Given the description of an element on the screen output the (x, y) to click on. 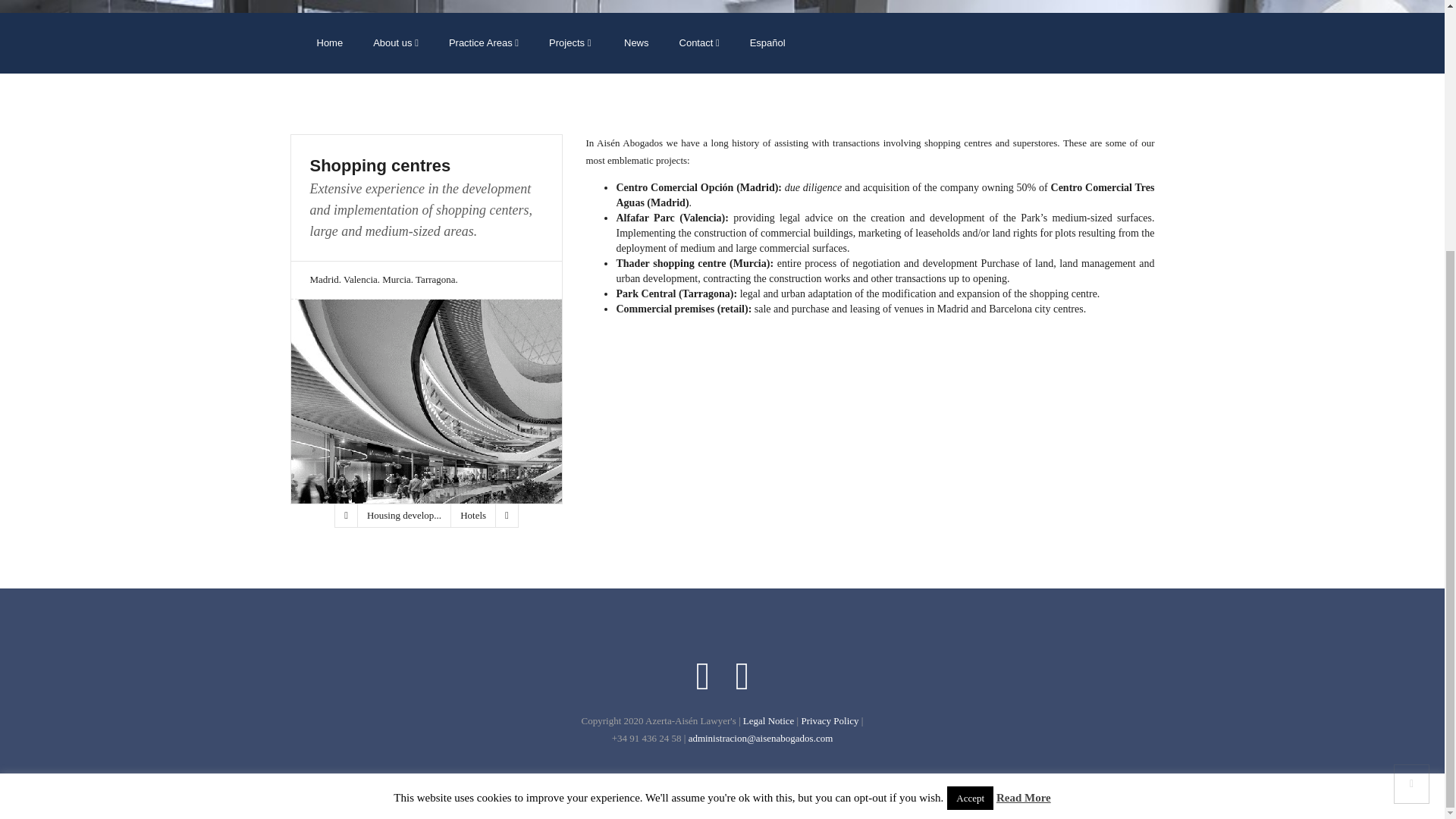
Privacy Policy (830, 720)
 News (634, 43)
Practice Areas (483, 43)
Read More (1023, 444)
Legal Notice (768, 720)
Accept (969, 444)
Home (329, 43)
About us (395, 43)
About us (395, 43)
Home (329, 43)
Projects (569, 43)
Practice Areas (483, 43)
Contact (699, 43)
Shopping centres (425, 165)
Hotels (472, 516)
